Given the description of an element on the screen output the (x, y) to click on. 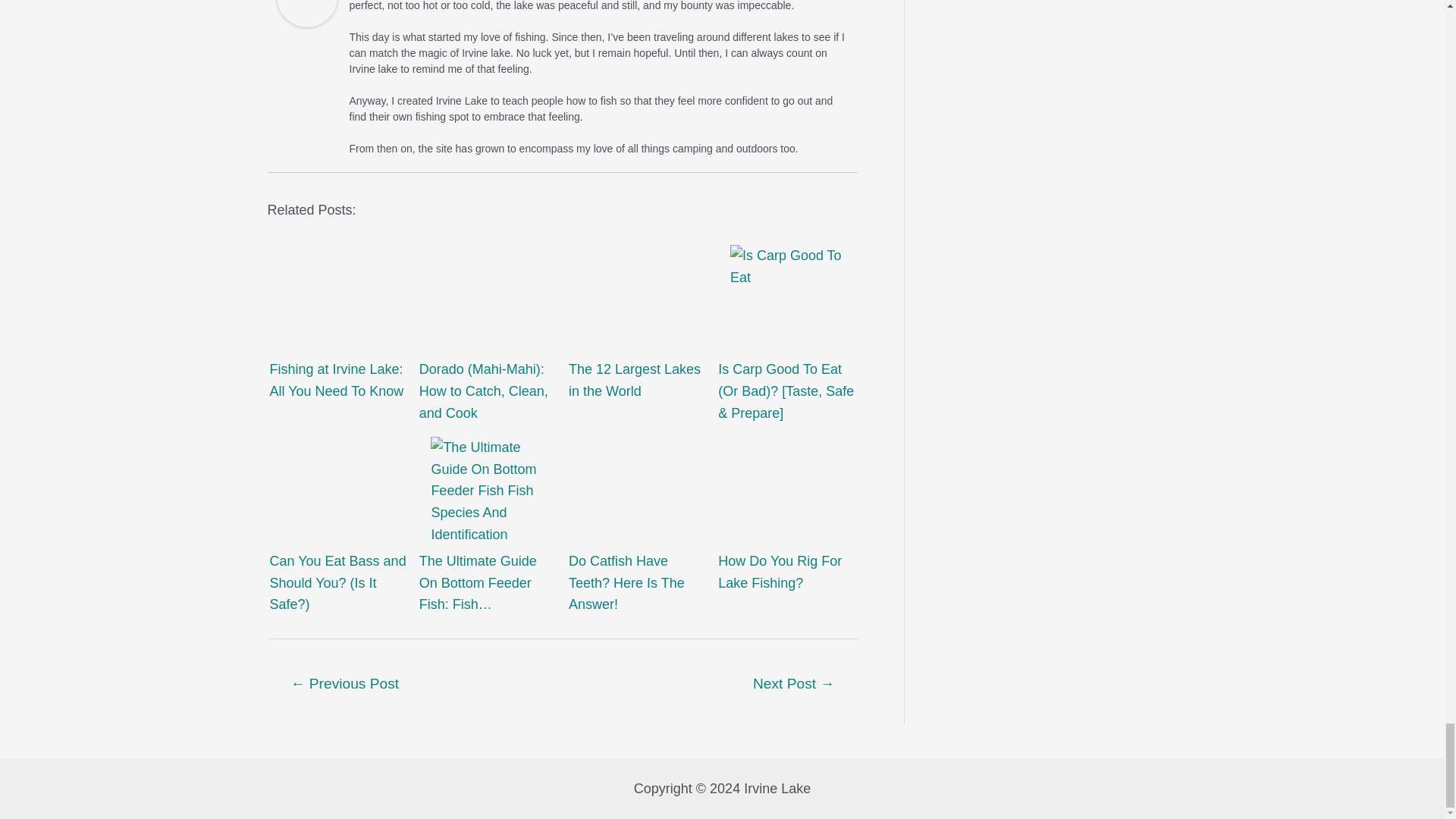
How Do You Rig For Lake Fishing? (787, 493)
Do Catfish Have Teeth? Here Is The Answer! (637, 493)
Tommy Bull (306, 2)
The 12 Largest Lakes in the World (637, 301)
Fishing at Irvine Lake: All You Need To Know (337, 301)
